Given the description of an element on the screen output the (x, y) to click on. 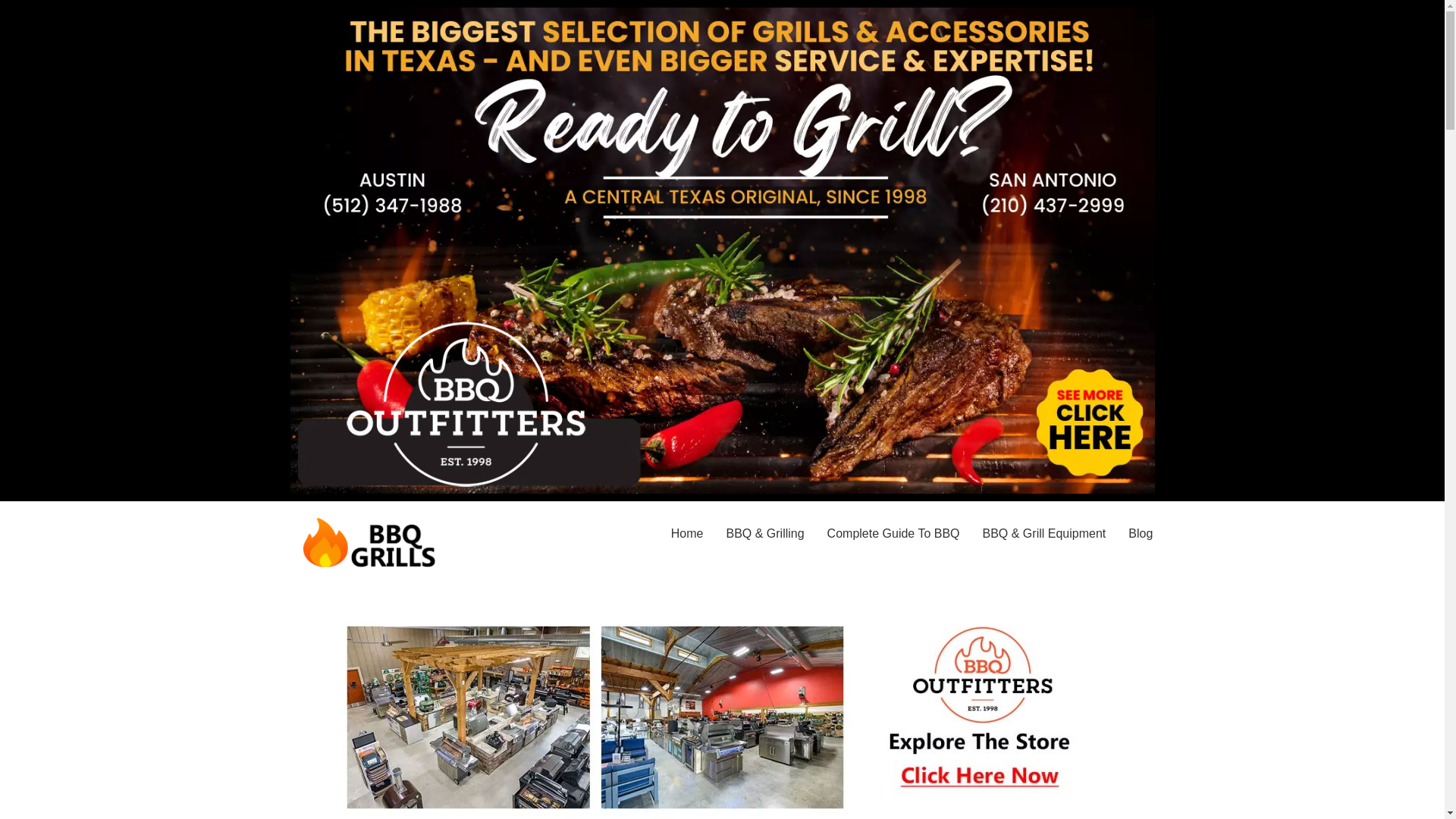
Home (686, 533)
Complete Guide To BBQ (893, 533)
Blog (1139, 533)
